Given the description of an element on the screen output the (x, y) to click on. 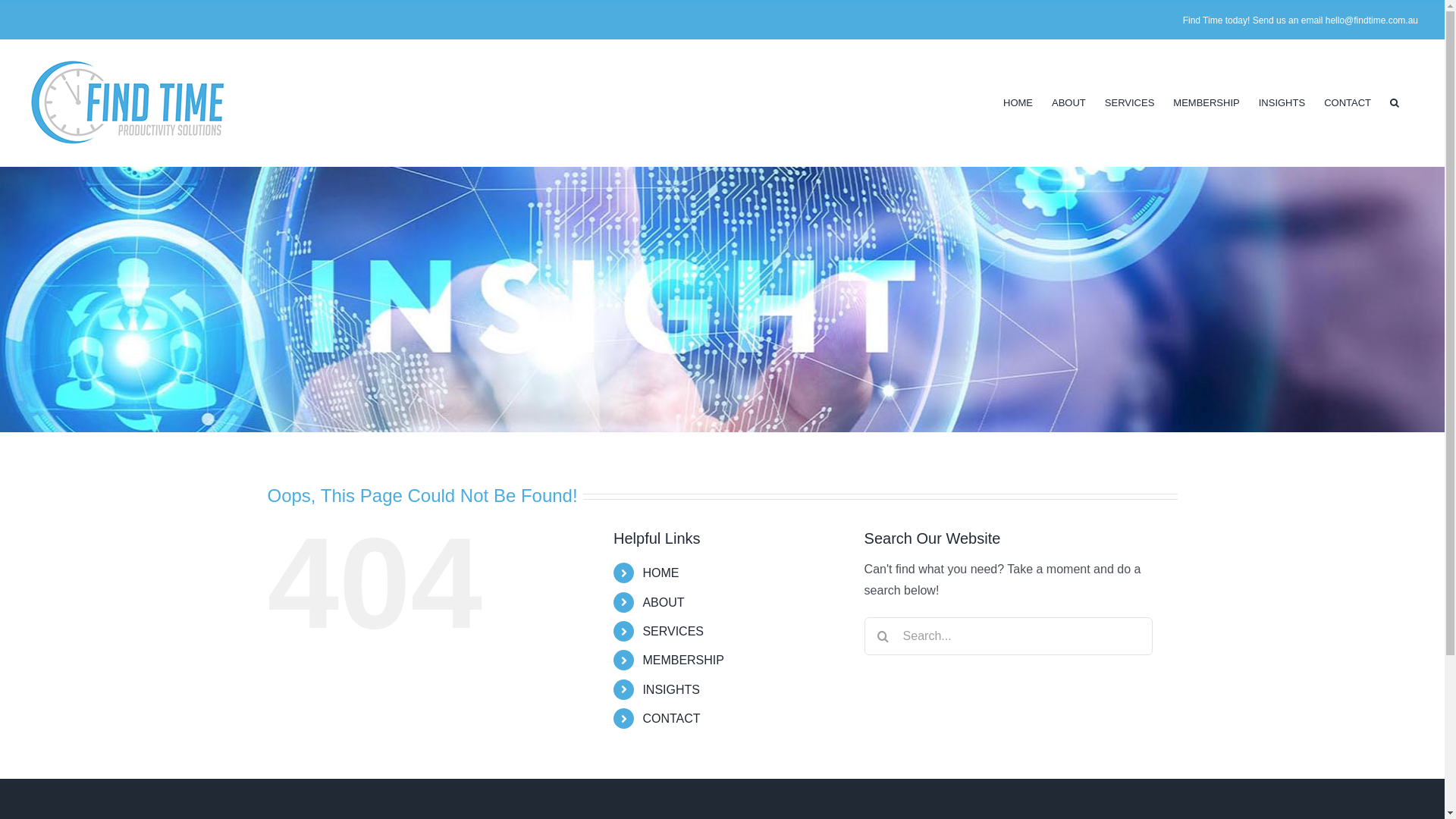
Search Element type: hover (1394, 102)
MEMBERSHIP Element type: text (1206, 102)
ABOUT Element type: text (663, 602)
ABOUT Element type: text (1068, 102)
hello@findtime.com.au Element type: text (1371, 20)
CONTACT Element type: text (1347, 102)
HOME Element type: text (1017, 102)
MEMBERSHIP Element type: text (683, 659)
CONTACT Element type: text (670, 718)
INSIGHTS Element type: text (670, 689)
SERVICES Element type: text (1129, 102)
SERVICES Element type: text (672, 630)
INSIGHTS Element type: text (1281, 102)
HOME Element type: text (660, 572)
